Given the description of an element on the screen output the (x, y) to click on. 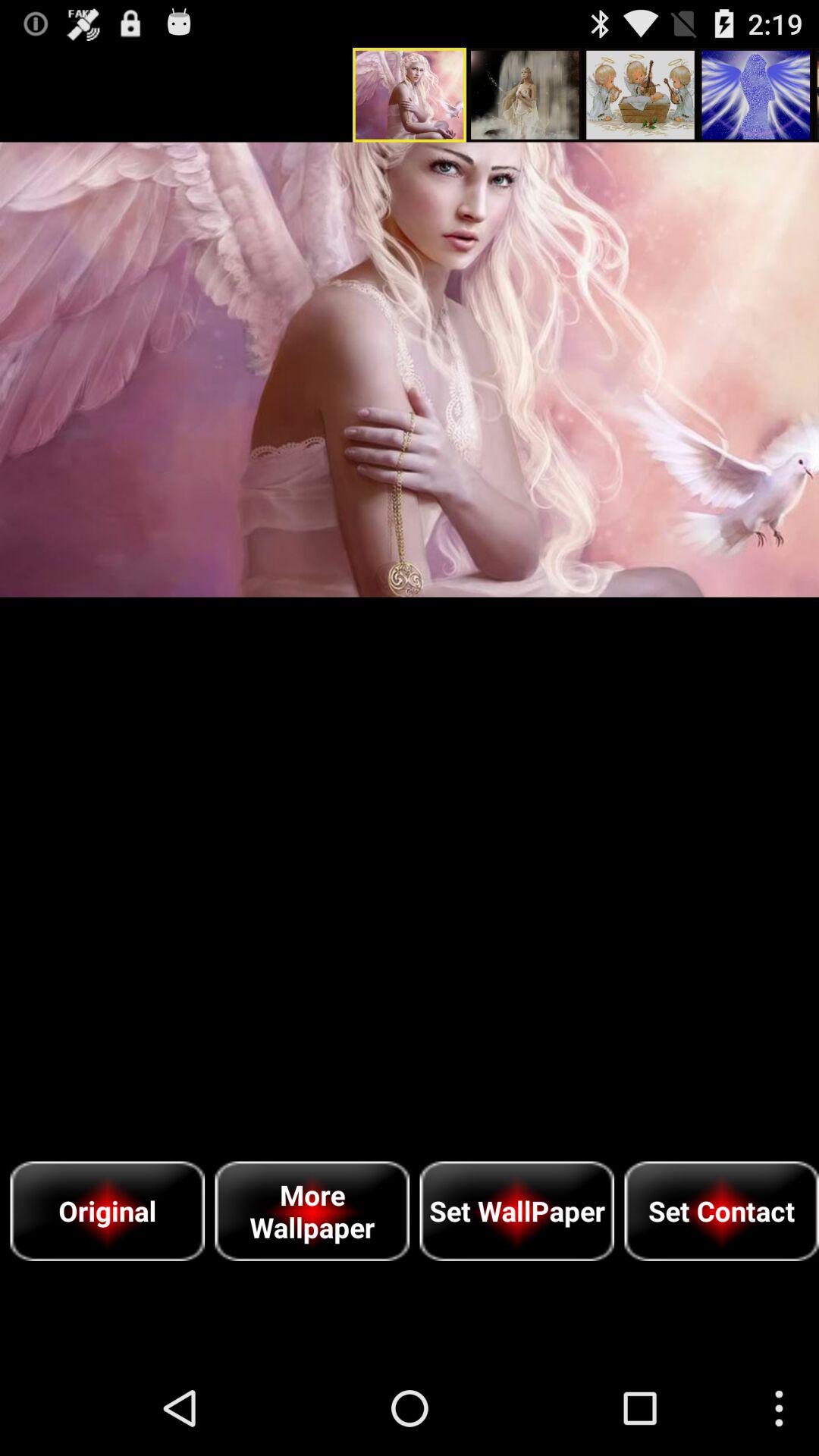
toggle picutre (409, 369)
